Given the description of an element on the screen output the (x, y) to click on. 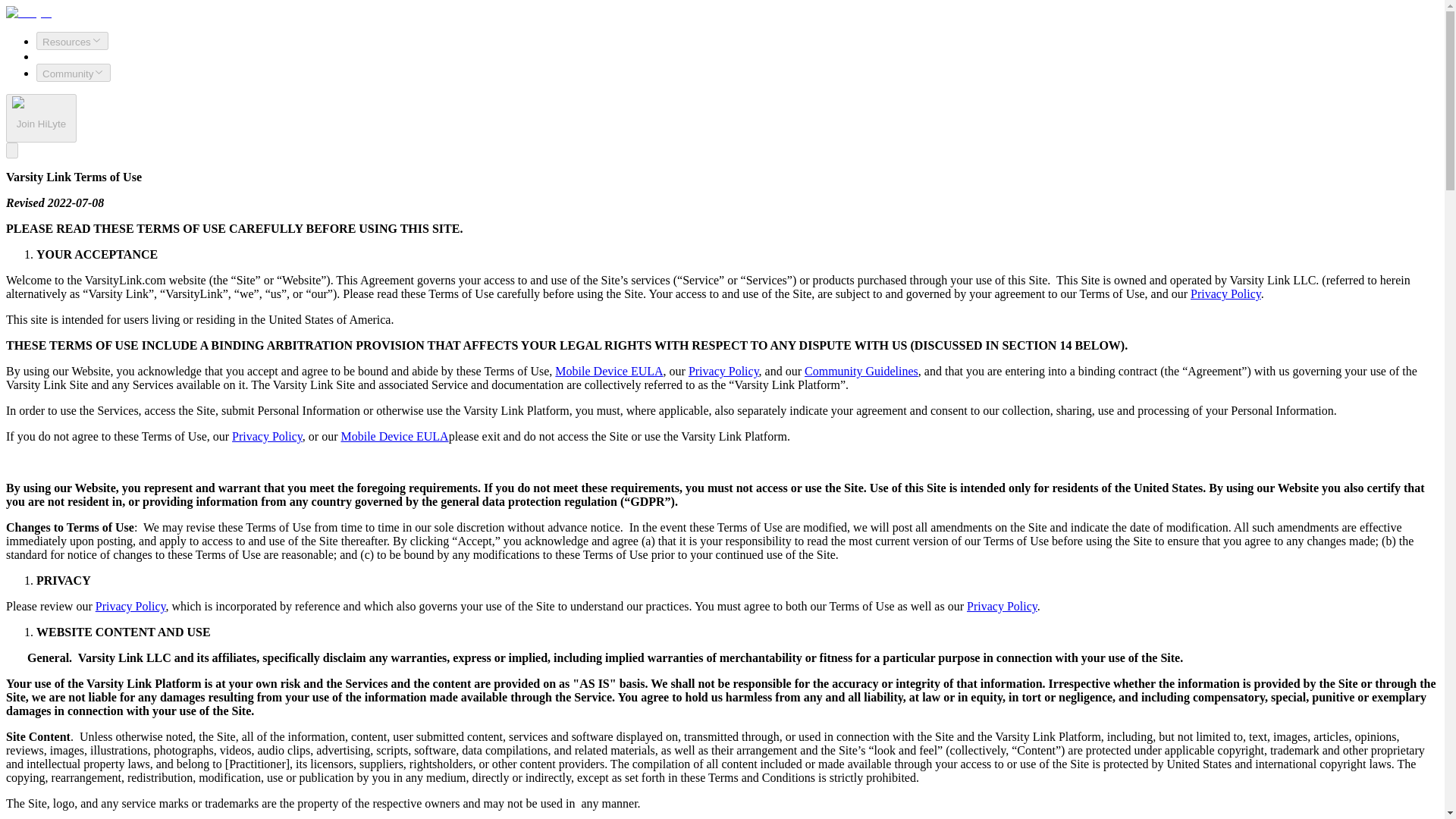
Join HiLyte (41, 118)
Join HiLyte (41, 123)
Privacy Policy (723, 370)
Resources (71, 40)
Mobile Device EULA (608, 370)
Mobile Device EULA (394, 436)
Privacy Policy (1225, 293)
Community (73, 72)
Privacy Policy (1001, 605)
Privacy Policy (130, 605)
